Given the description of an element on the screen output the (x, y) to click on. 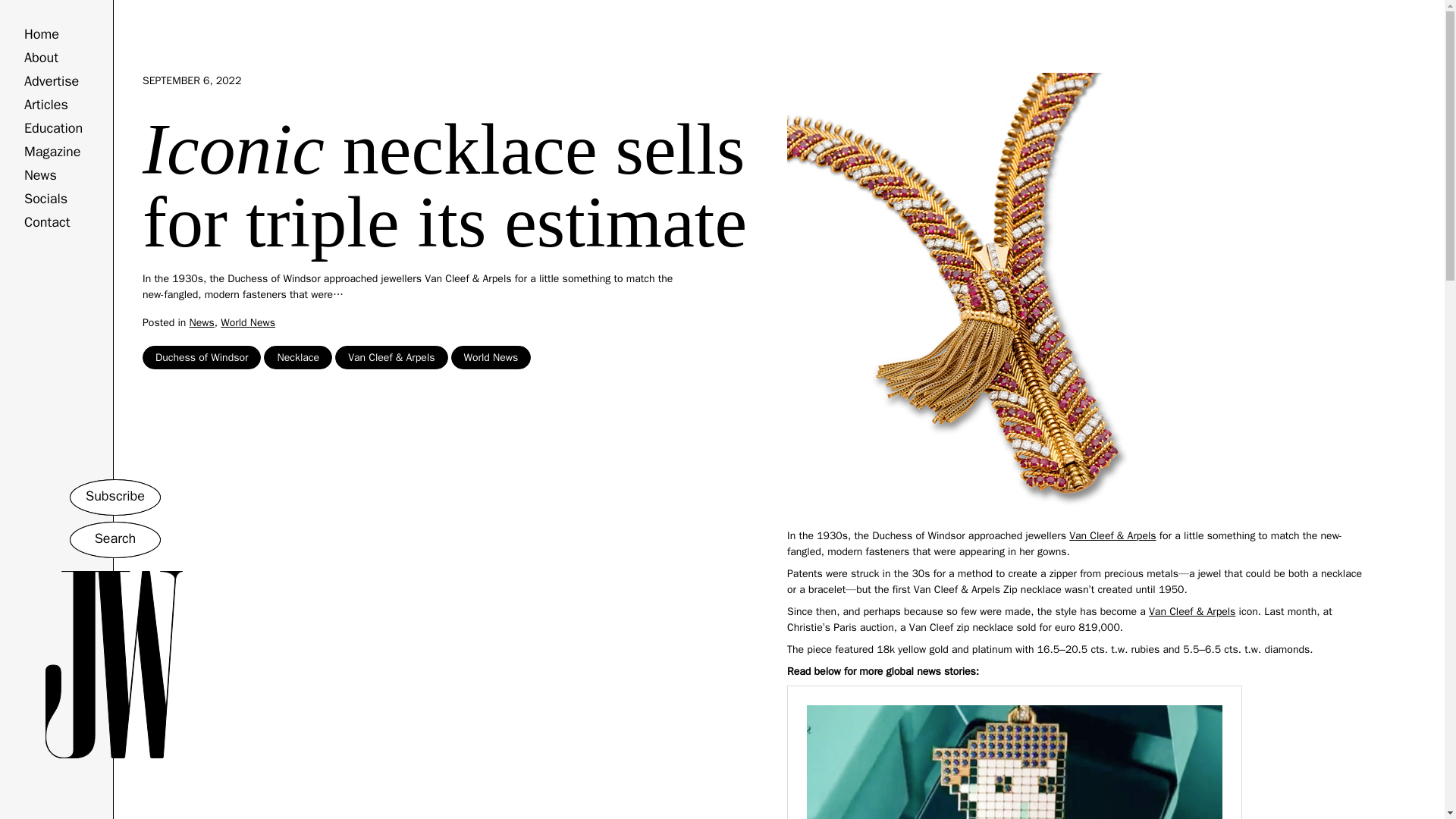
World News (491, 357)
About (41, 57)
Articles (46, 104)
Subscribe (114, 497)
Advertise (51, 80)
Socials (45, 198)
Education (53, 127)
Home (41, 33)
Necklace (297, 357)
News (40, 175)
World News (248, 322)
Duchess of Windsor (201, 357)
Search (114, 539)
Contact (46, 221)
News (201, 322)
